Given the description of an element on the screen output the (x, y) to click on. 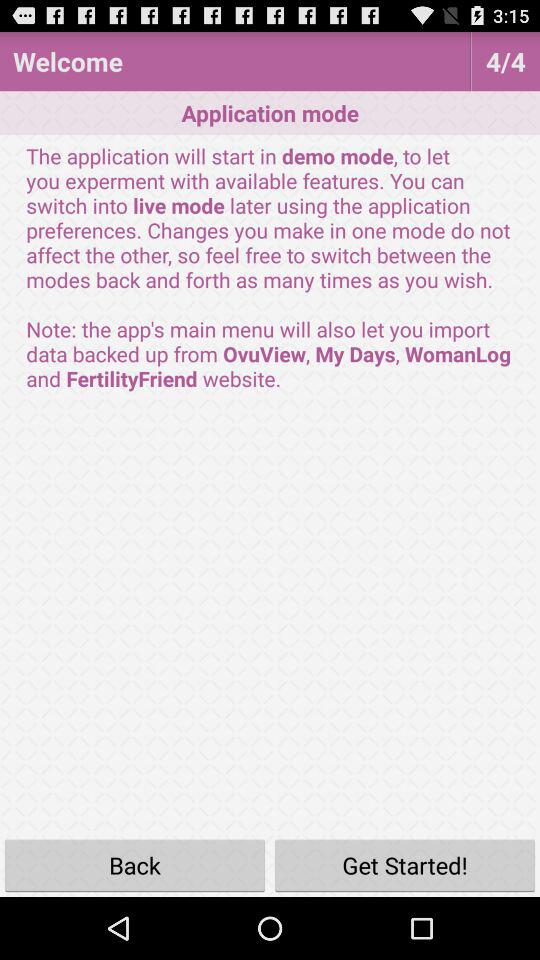
launch the icon next to the get started! (135, 864)
